Given the description of an element on the screen output the (x, y) to click on. 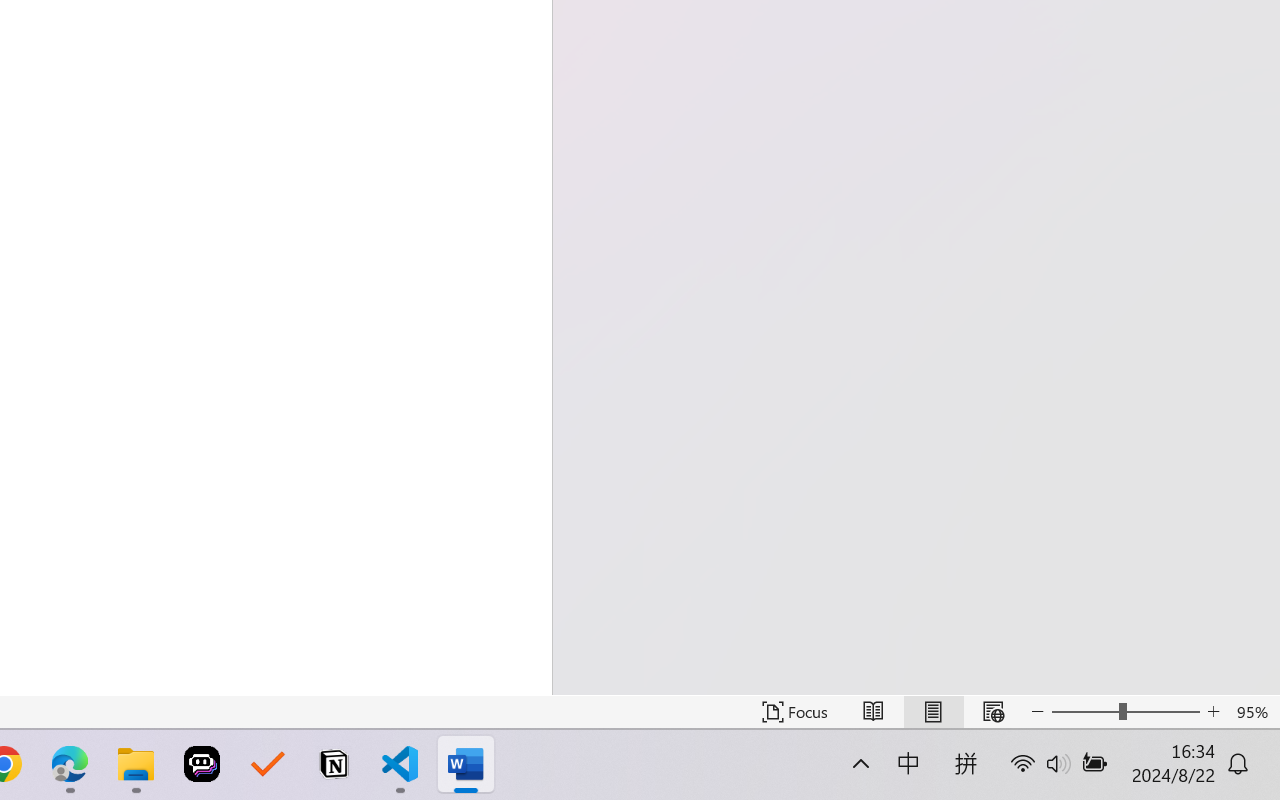
Zoom 95% (1253, 712)
